Given the description of an element on the screen output the (x, y) to click on. 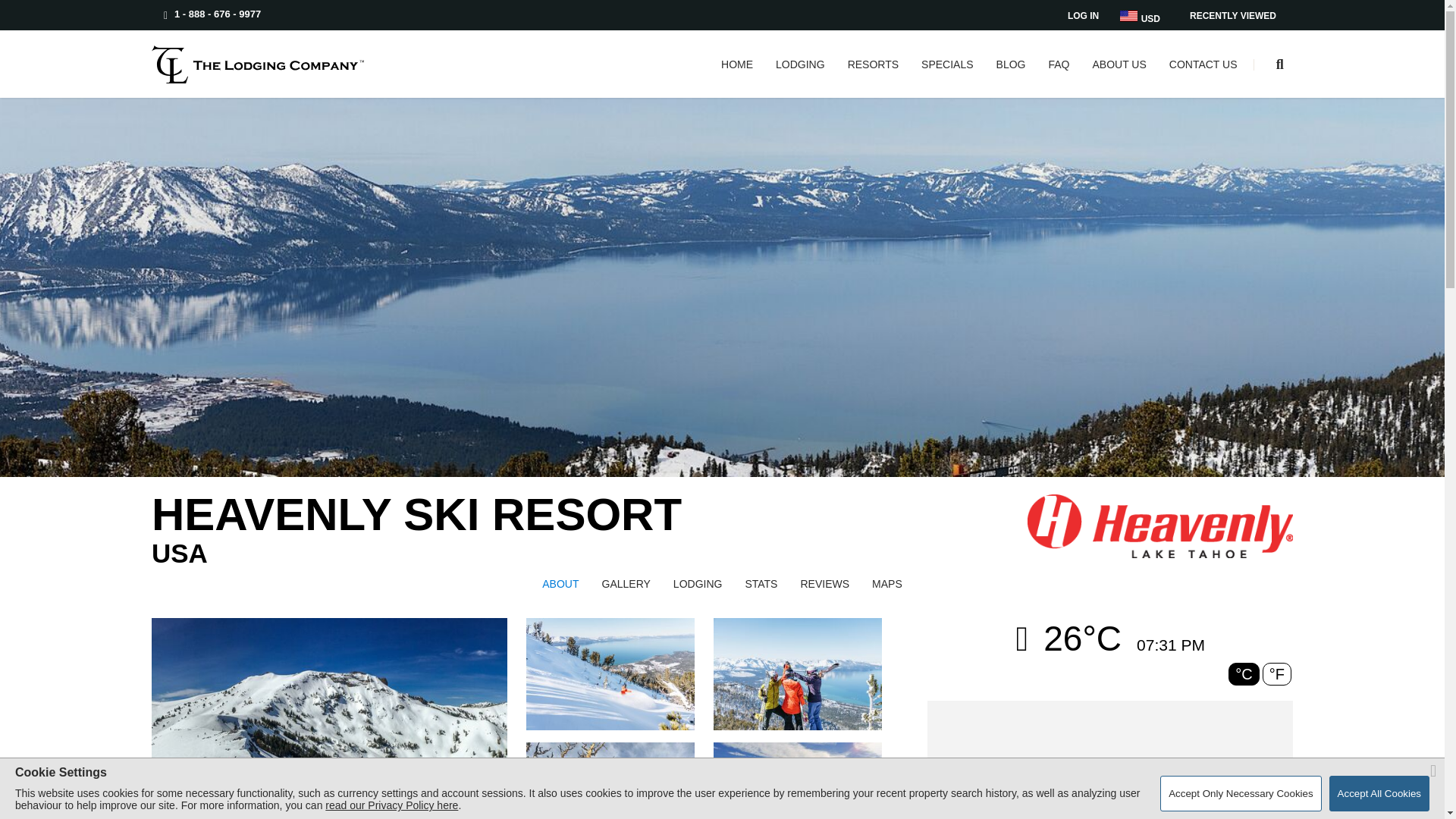
STATS (760, 584)
ABOUT (560, 584)
Resort Local Time (1171, 645)
ABOUT US (1118, 78)
RESORTS (872, 78)
1 - 888 - 676 - 9977 (212, 13)
CONTACT US (1203, 78)
MAPS (887, 584)
RECENTLY VIEWED (1231, 15)
REVIEWS (824, 584)
LODGING (697, 584)
LODGING (800, 78)
USD (1139, 15)
SPECIALS (946, 78)
GALLERY (626, 584)
